Given the description of an element on the screen output the (x, y) to click on. 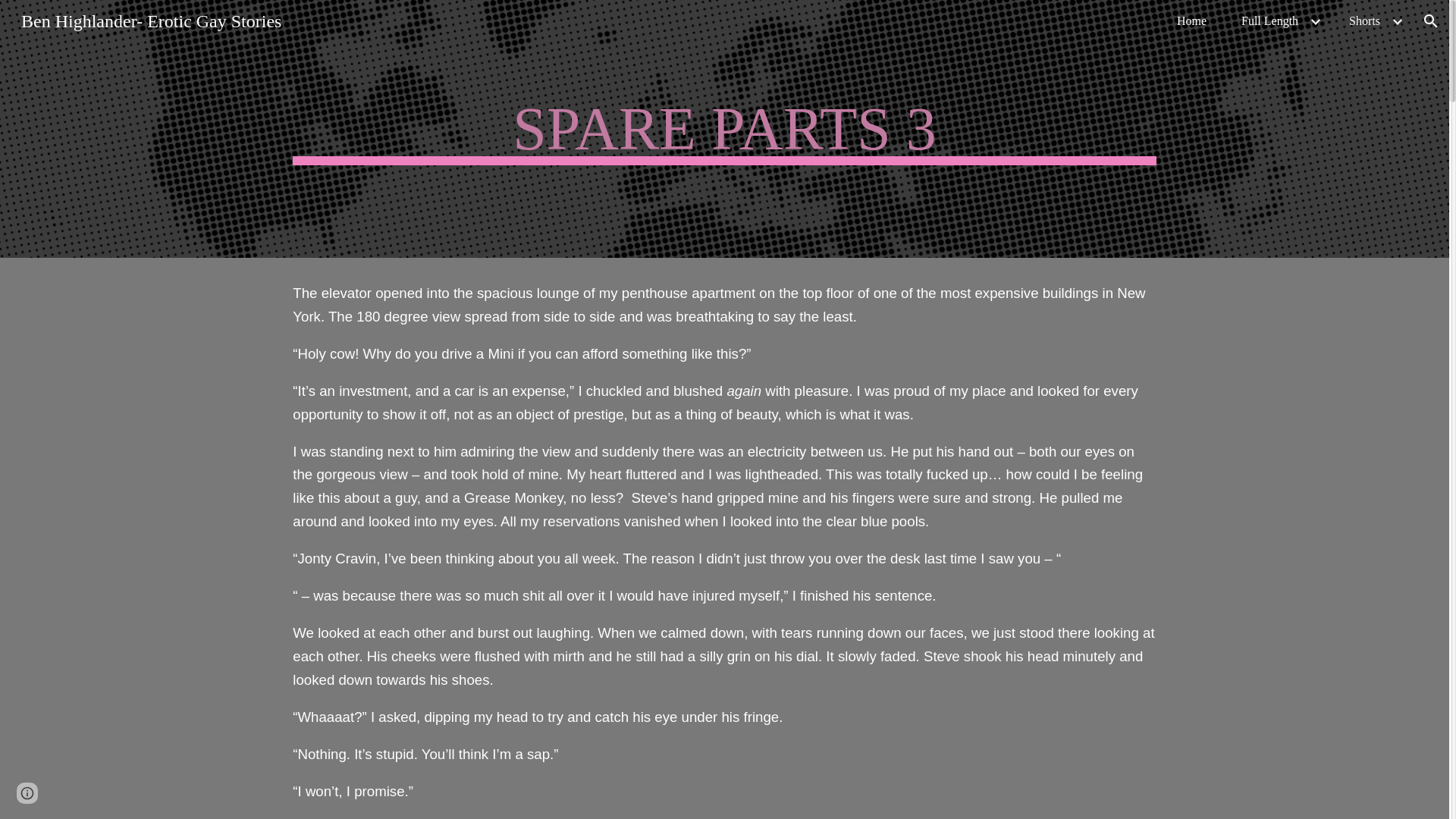
Home (1191, 20)
Full Length (1269, 20)
Ben Highlander- Erotic Gay Stories (150, 19)
